Given the description of an element on the screen output the (x, y) to click on. 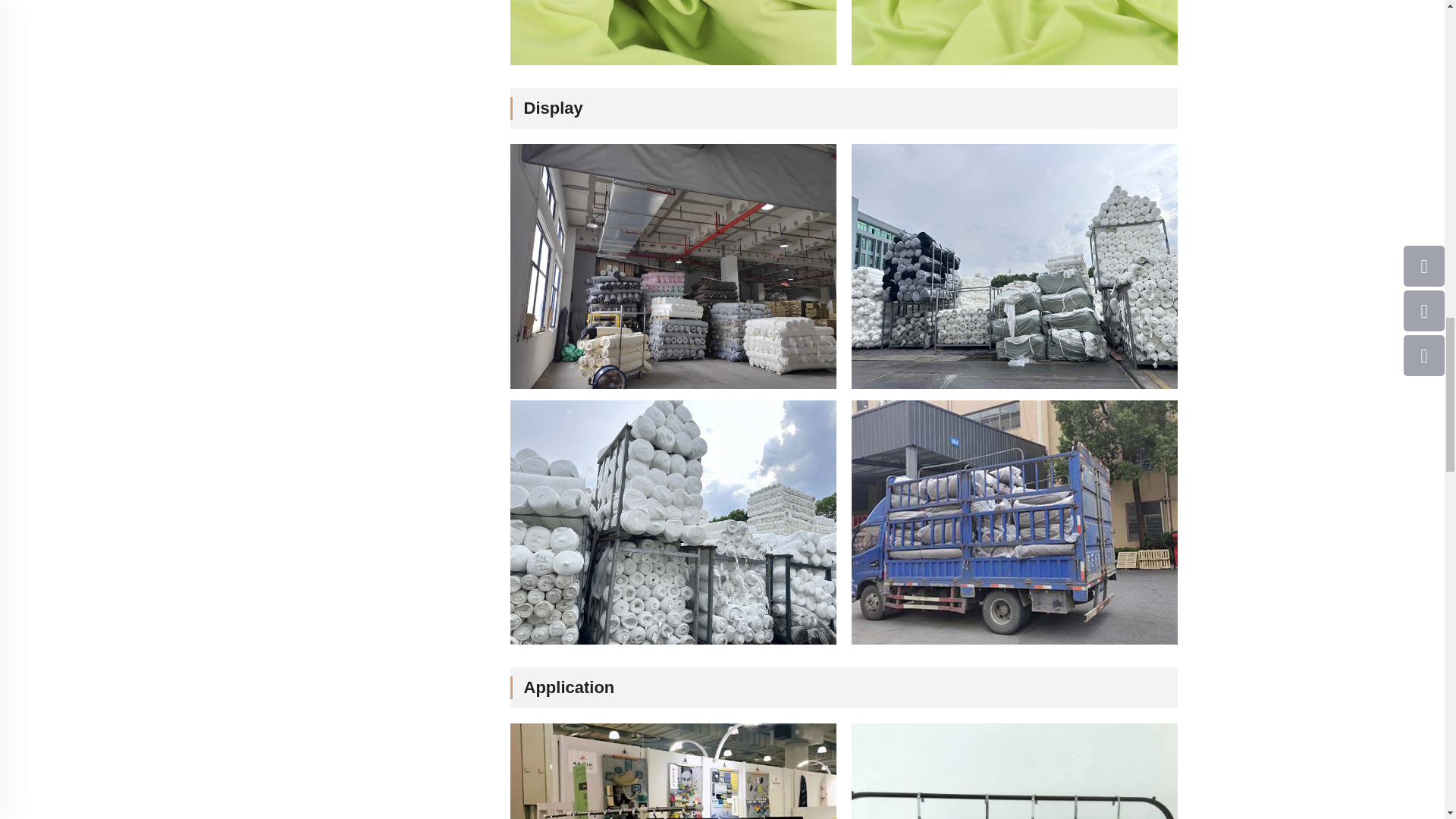
2 (1013, 771)
7 (672, 522)
4 (672, 771)
6 (1013, 266)
2 (672, 266)
7 (1013, 522)
